Given the description of an element on the screen output the (x, y) to click on. 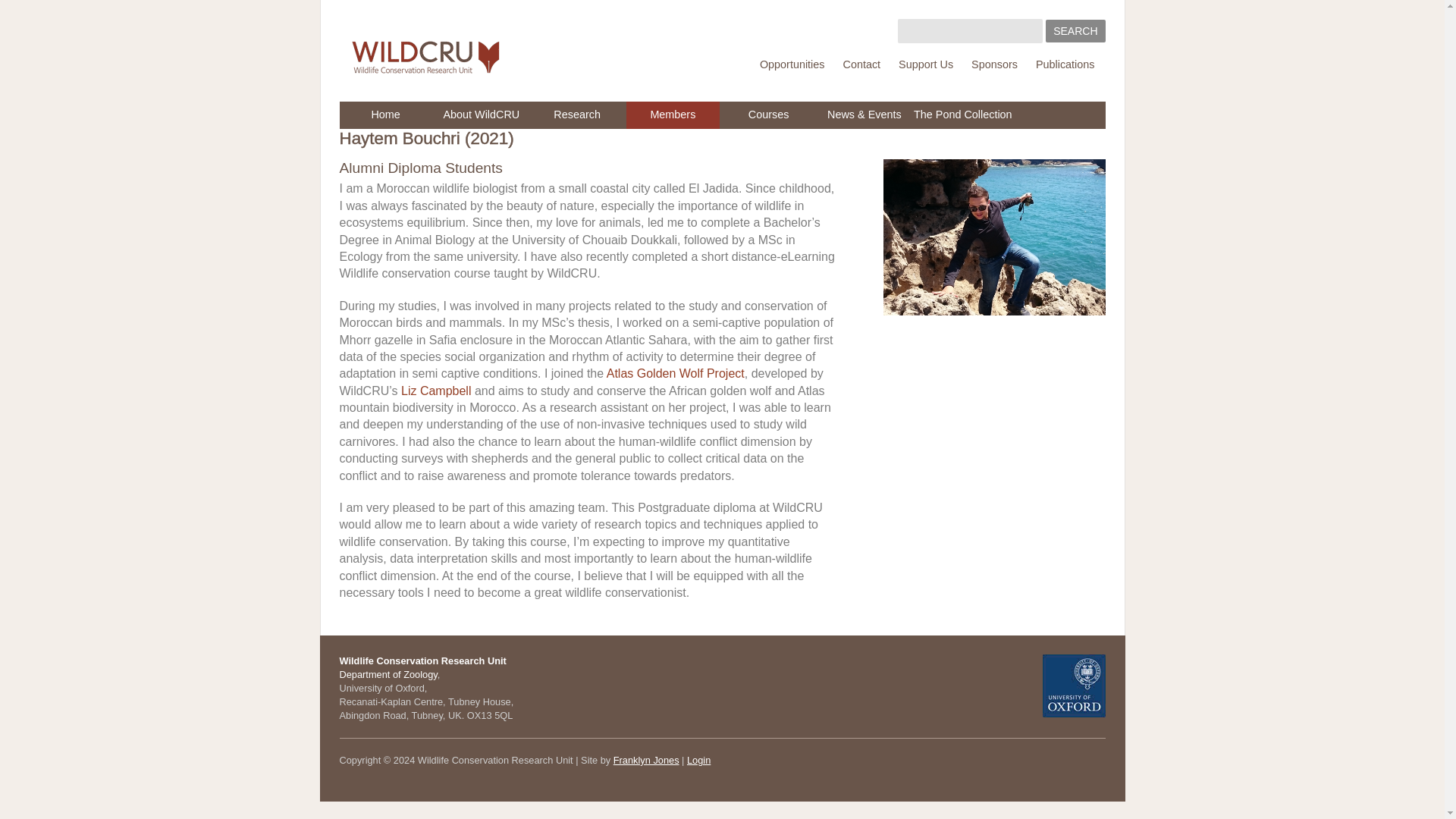
Support Us (925, 63)
WildCRU (425, 70)
Search (1075, 30)
Login to system (698, 759)
Visit Franklyn Jones (645, 759)
Home (385, 114)
Sponsors (994, 63)
Atlas Golden Wolf Project (675, 373)
Courses (767, 114)
Contact (861, 63)
About WildCRU (481, 114)
Opportunities (792, 63)
Research (577, 114)
Search (1075, 30)
Visit site (1073, 688)
